Given the description of an element on the screen output the (x, y) to click on. 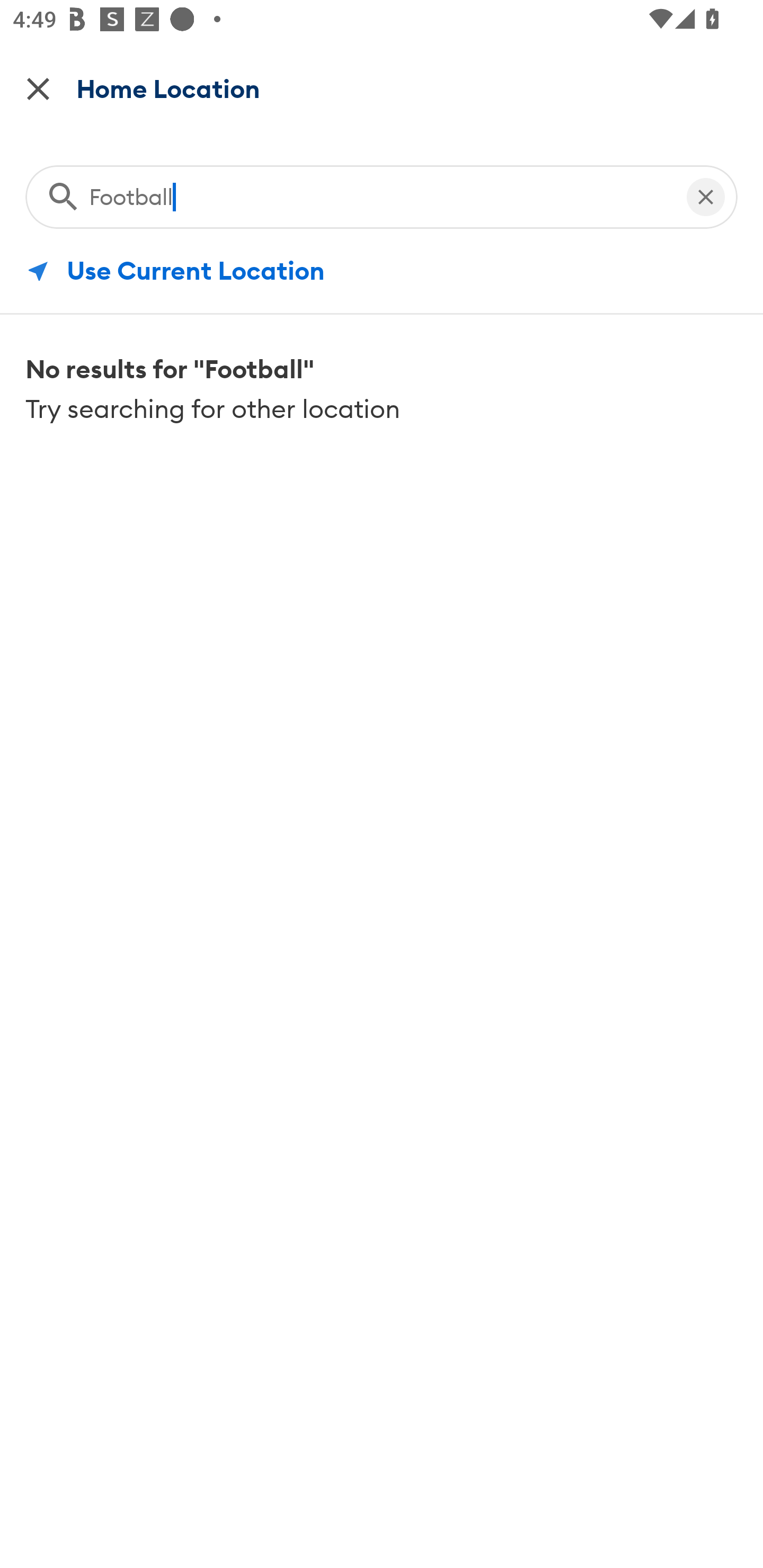
Close (38, 88)
Football (378, 193)
Clear Search (705, 193)
Use Current Location (381, 270)
